Given the description of an element on the screen output the (x, y) to click on. 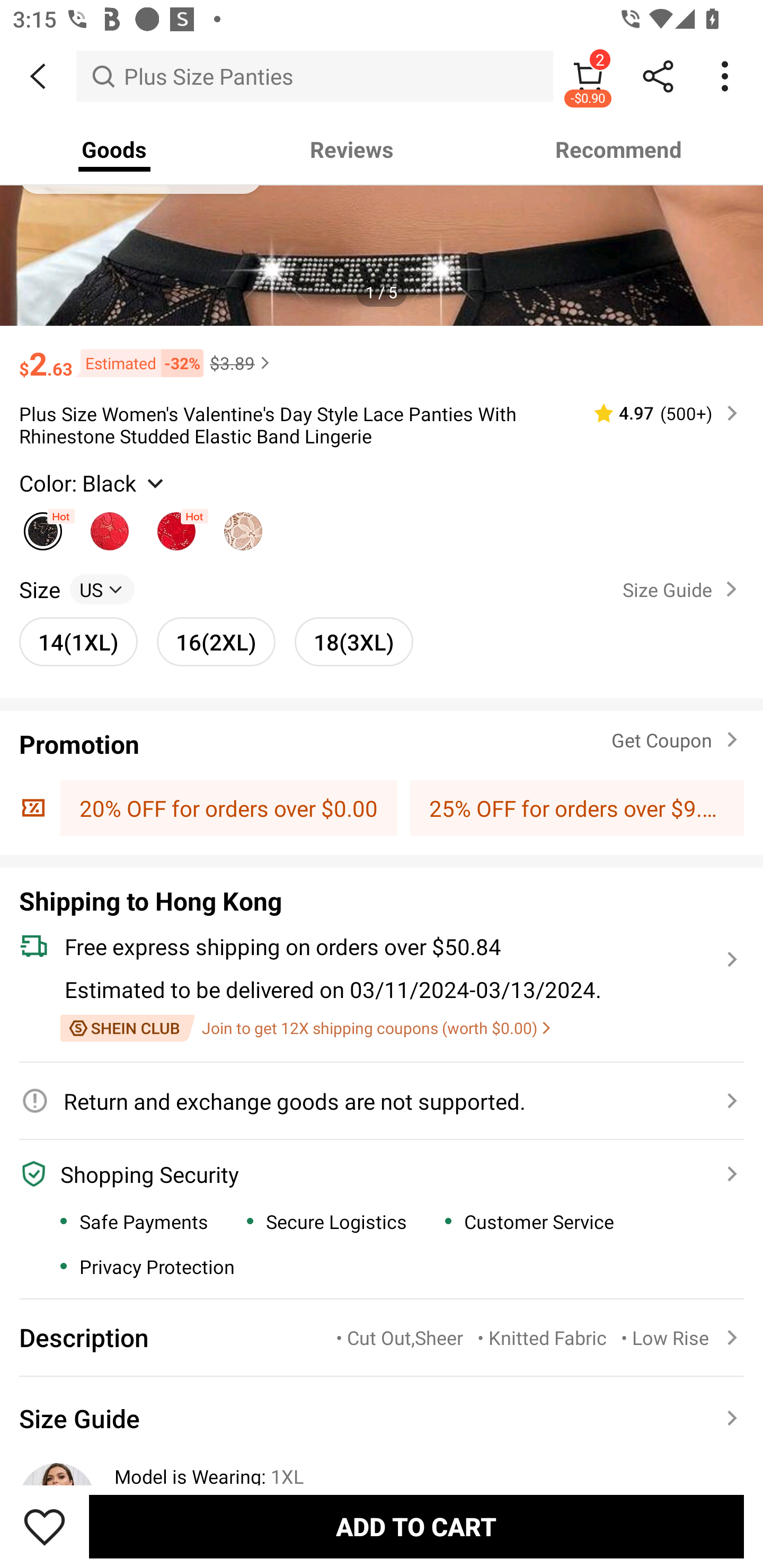
BACK (38, 75)
2 -$0.90 (588, 75)
Plus Size Panties (314, 75)
Goods (114, 149)
Reviews (351, 149)
Recommend (618, 149)
1 / 5 (381, 291)
$2.63 Estimated -32% $3.89 (381, 355)
Estimated -32% (137, 363)
$3.89 (241, 362)
4.97 (500‎+) (658, 412)
Color: Black (93, 482)
Black (42, 526)
Burgundy (109, 526)
Red (176, 526)
White (242, 526)
Size (39, 588)
US (102, 588)
Size Guide (682, 589)
14(1XL) 14(1XL)unselected option (78, 641)
16(2XL) 16(2XL)unselected option (216, 641)
18(3XL) 18(3XL)unselected option (353, 641)
Join to get 12X shipping coupons (worth $0.00) (305, 1028)
Return and exchange goods are not supported. (370, 1100)
Size Guide (381, 1417)
Size Guide (381, 1417)
ADD TO CART (416, 1526)
Save (44, 1526)
